Given the description of an element on the screen output the (x, y) to click on. 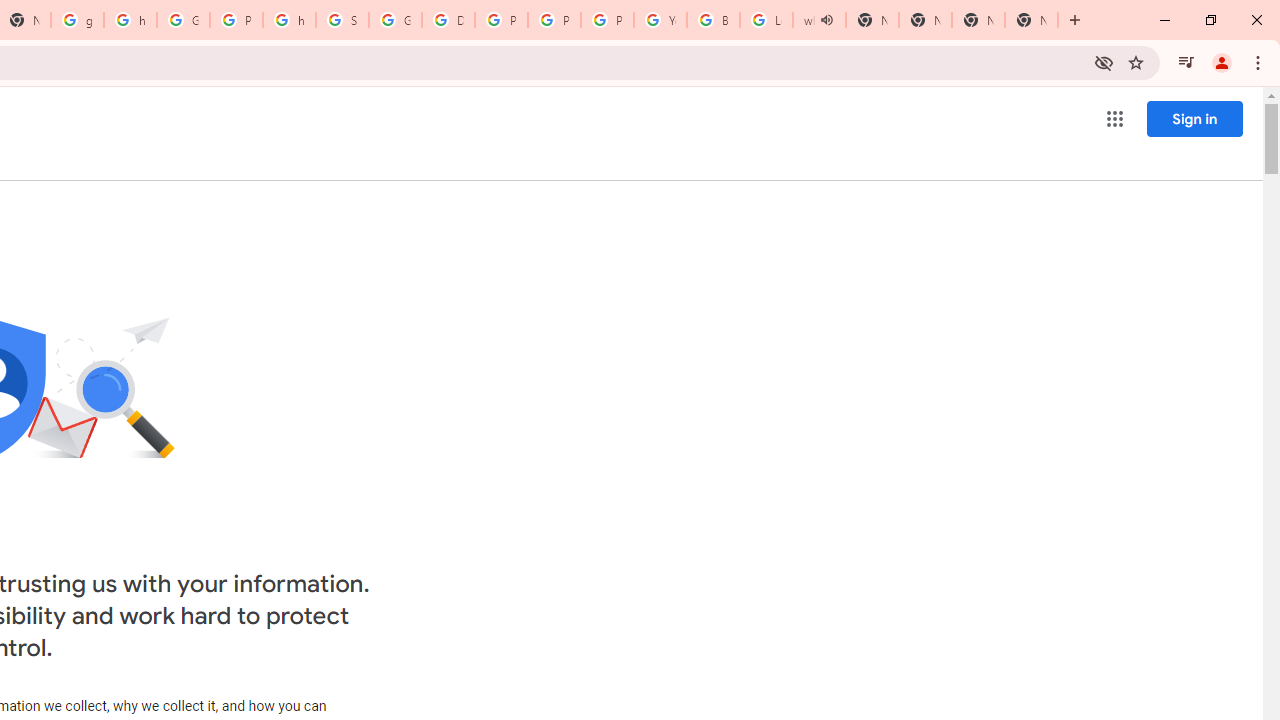
New Tab (1031, 20)
https://scholar.google.com/ (289, 20)
Privacy Help Center - Policies Help (501, 20)
https://scholar.google.com/ (130, 20)
New Tab (978, 20)
Sign in - Google Accounts (342, 20)
YouTube (660, 20)
